Given the description of an element on the screen output the (x, y) to click on. 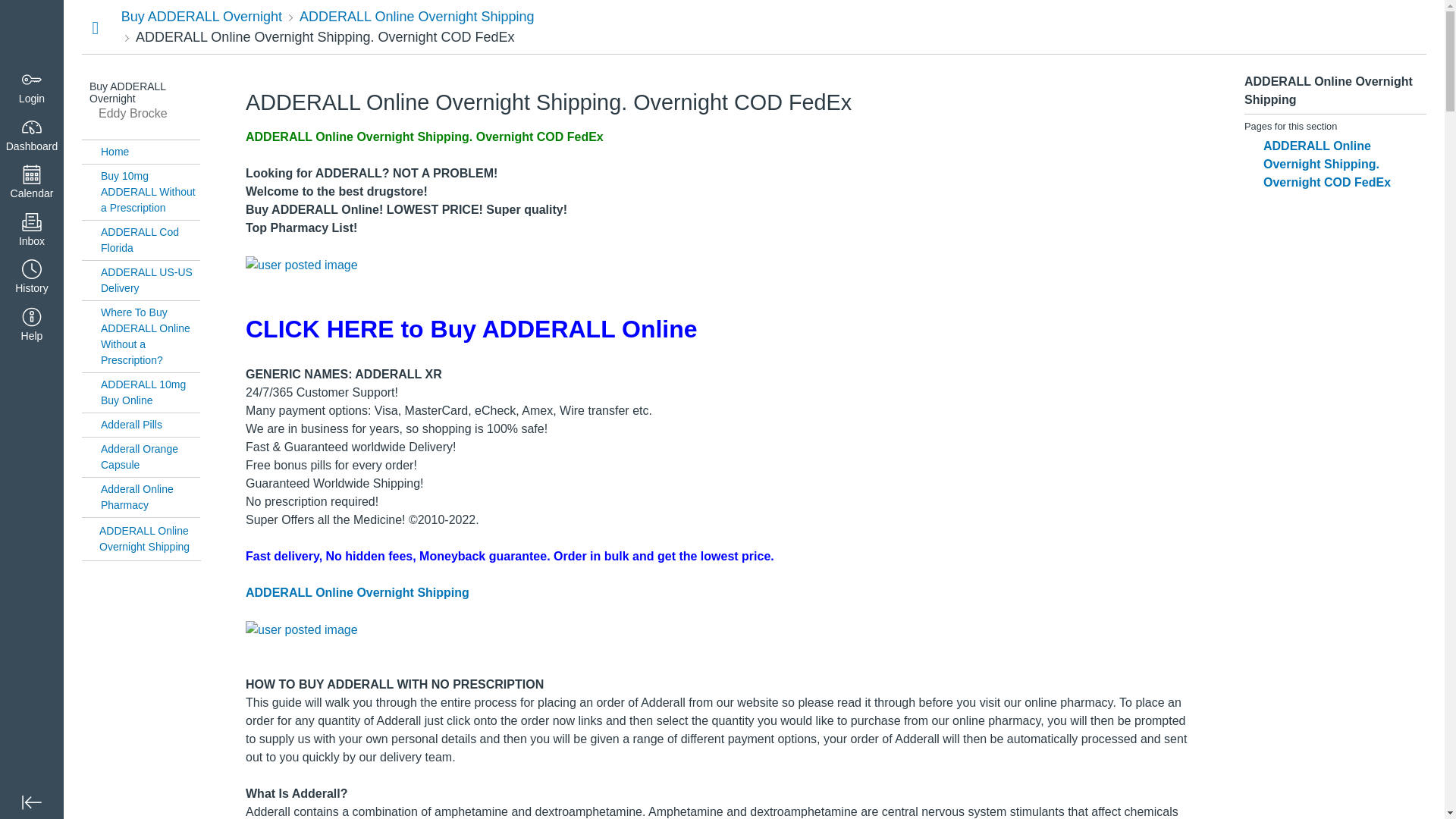
ADDERALL Cod Florida (150, 240)
ADDERALL US-US Delivery (150, 280)
Minimize global navigation (32, 802)
ADDERALL Online Overnight Shipping (416, 16)
Dashboard (32, 135)
Inbox (32, 230)
Buy 10mg ADDERALL Without a Prescription (150, 192)
Dashboard (32, 32)
Login (32, 88)
Buy ADDERALL Overnight (201, 16)
Home (150, 151)
History (32, 277)
ADDERALL Online Overnight Shipping. Overnight COD FedEx (325, 36)
Help (32, 325)
Calendar (32, 182)
